Given the description of an element on the screen output the (x, y) to click on. 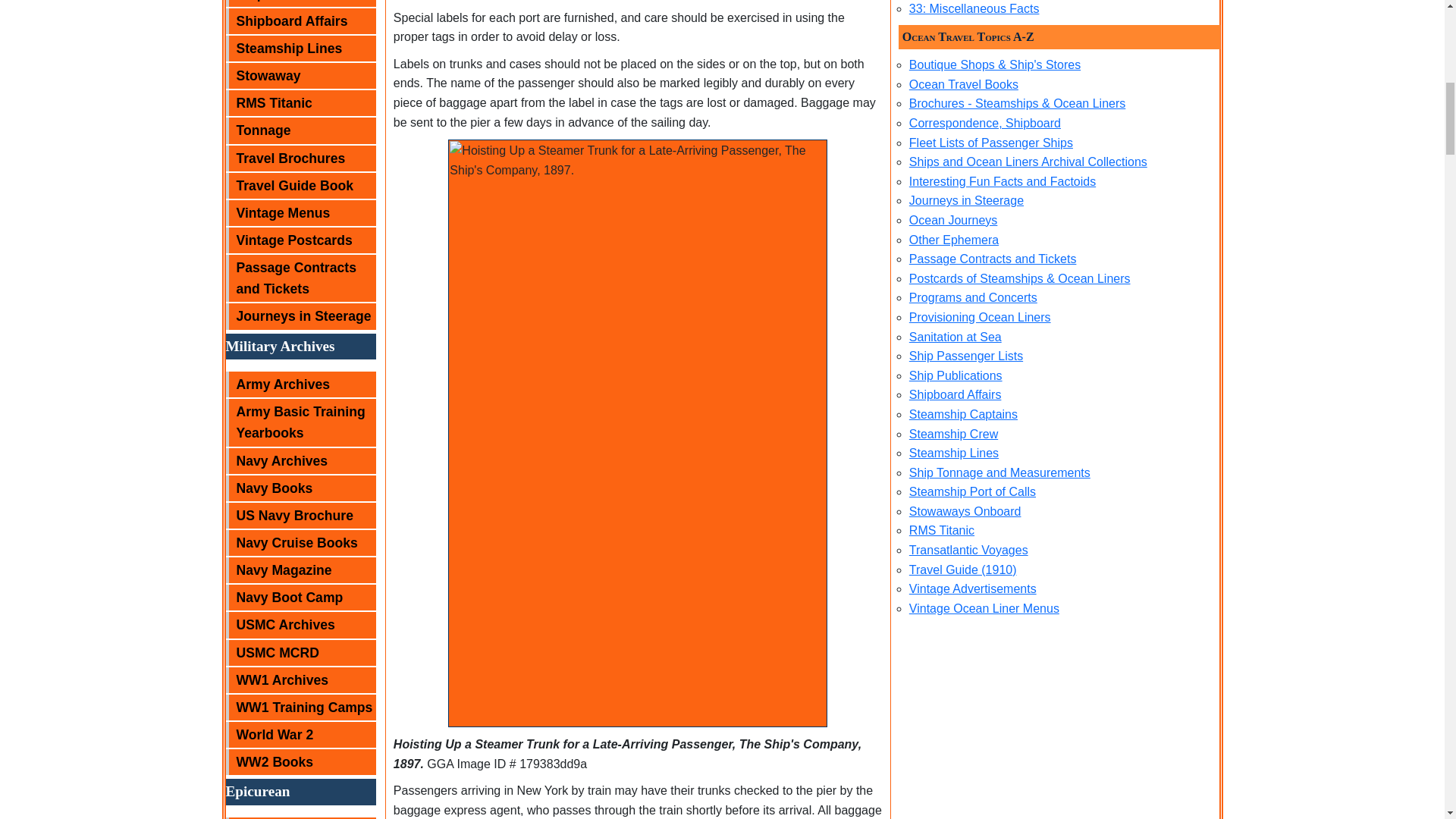
Vintage Postcards (300, 240)
Travel Brochures (300, 158)
Steamship Lines (300, 48)
Passage Contracts and Tickets (300, 278)
Tonnage (300, 130)
Stowaway (300, 75)
Shipboard Affairs (300, 21)
RMS Titanic (300, 103)
Vintage Menus (300, 212)
Ship Crews (300, 3)
Travel Guide Book (300, 185)
